Given the description of an element on the screen output the (x, y) to click on. 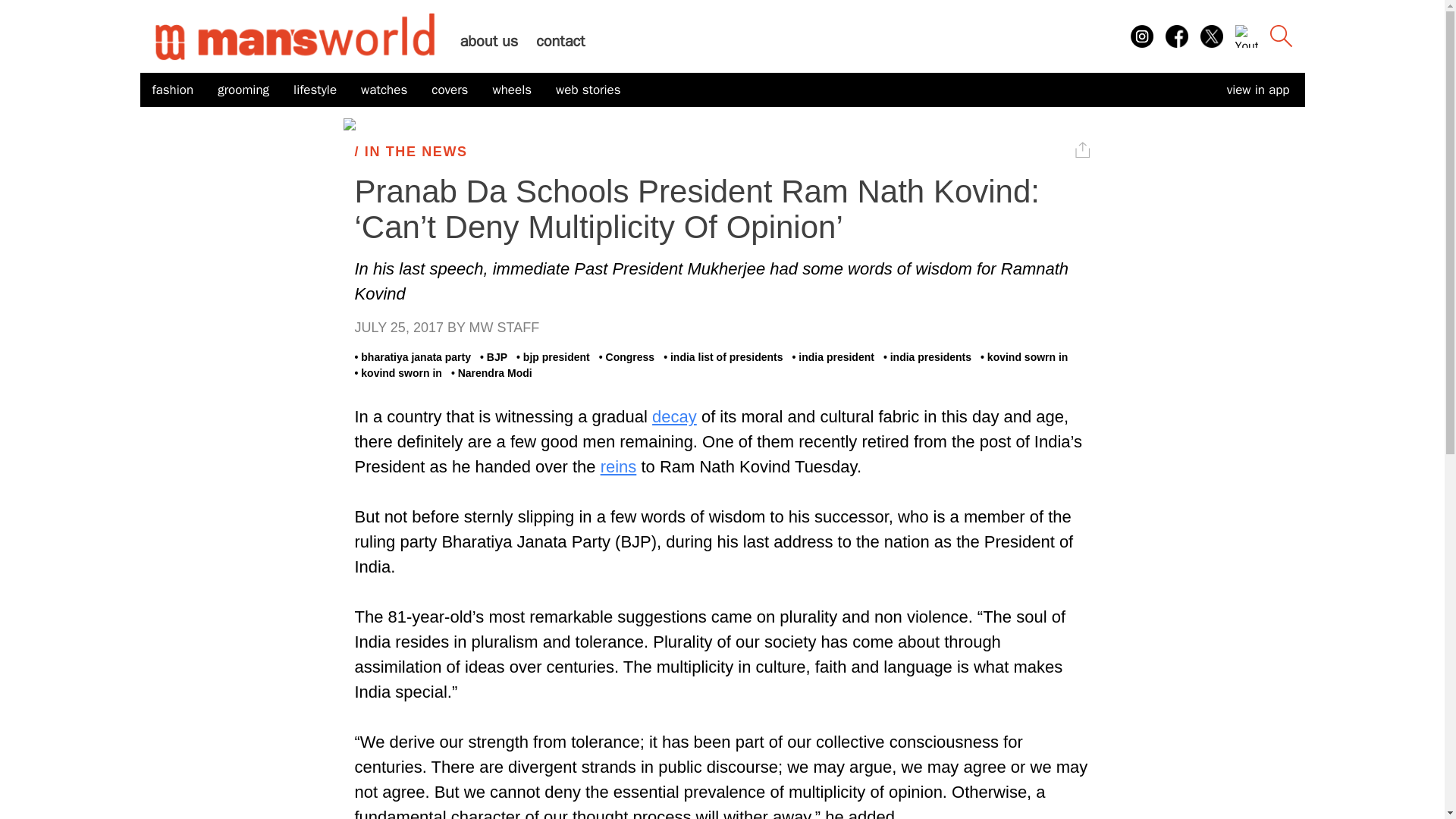
decay (674, 416)
about us (489, 41)
web stories (588, 90)
covers (449, 90)
lifestyle (315, 90)
contact (560, 41)
wheels (511, 90)
fashion (172, 90)
JULY 25, 2017 BY MW STAFF (722, 327)
grooming (243, 90)
